Given the description of an element on the screen output the (x, y) to click on. 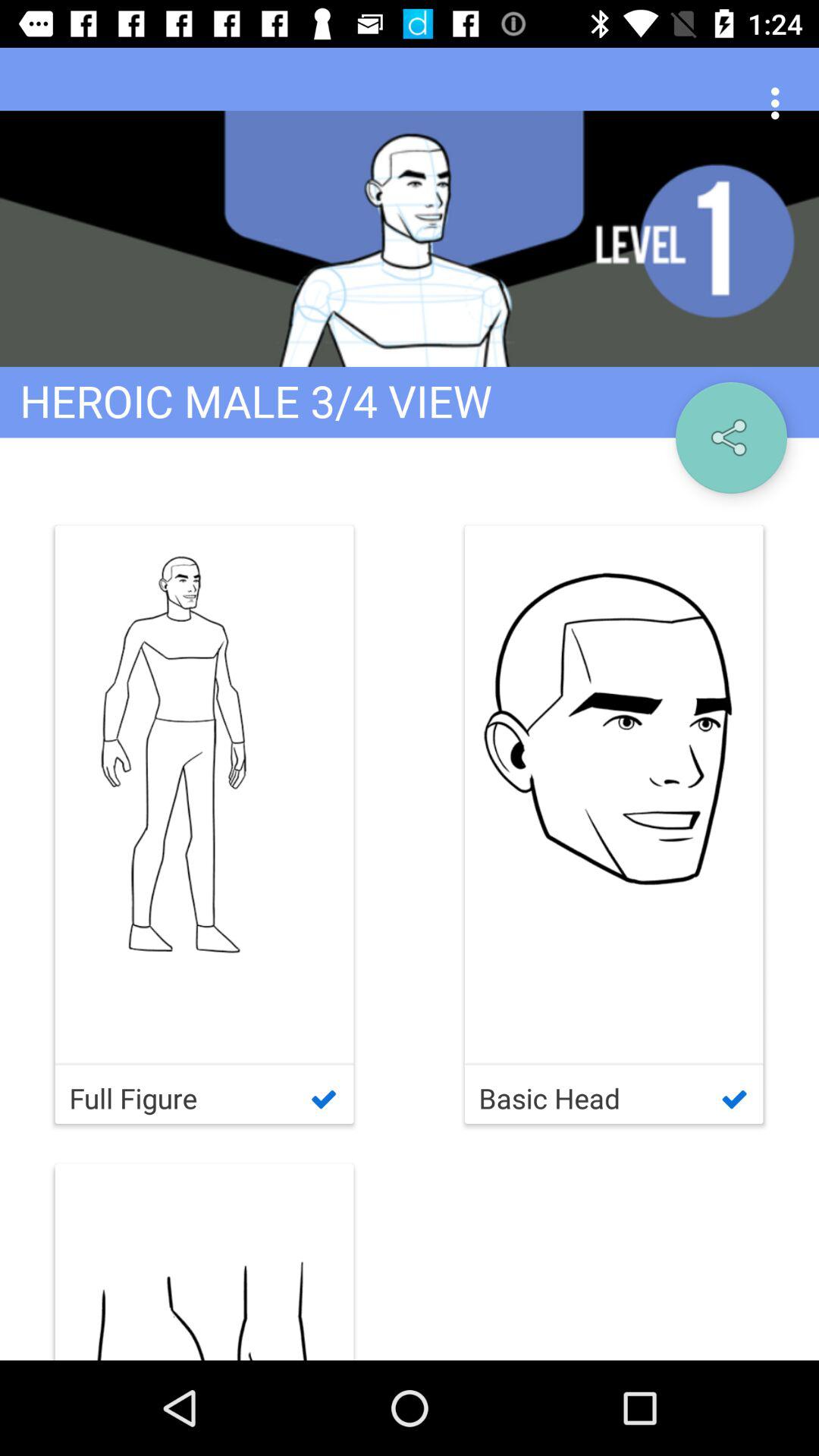
click on the full figure image (204, 793)
select the icon share (731, 437)
select more options on a page (779, 103)
select the icon right to the text full figure (614, 824)
